Given the description of an element on the screen output the (x, y) to click on. 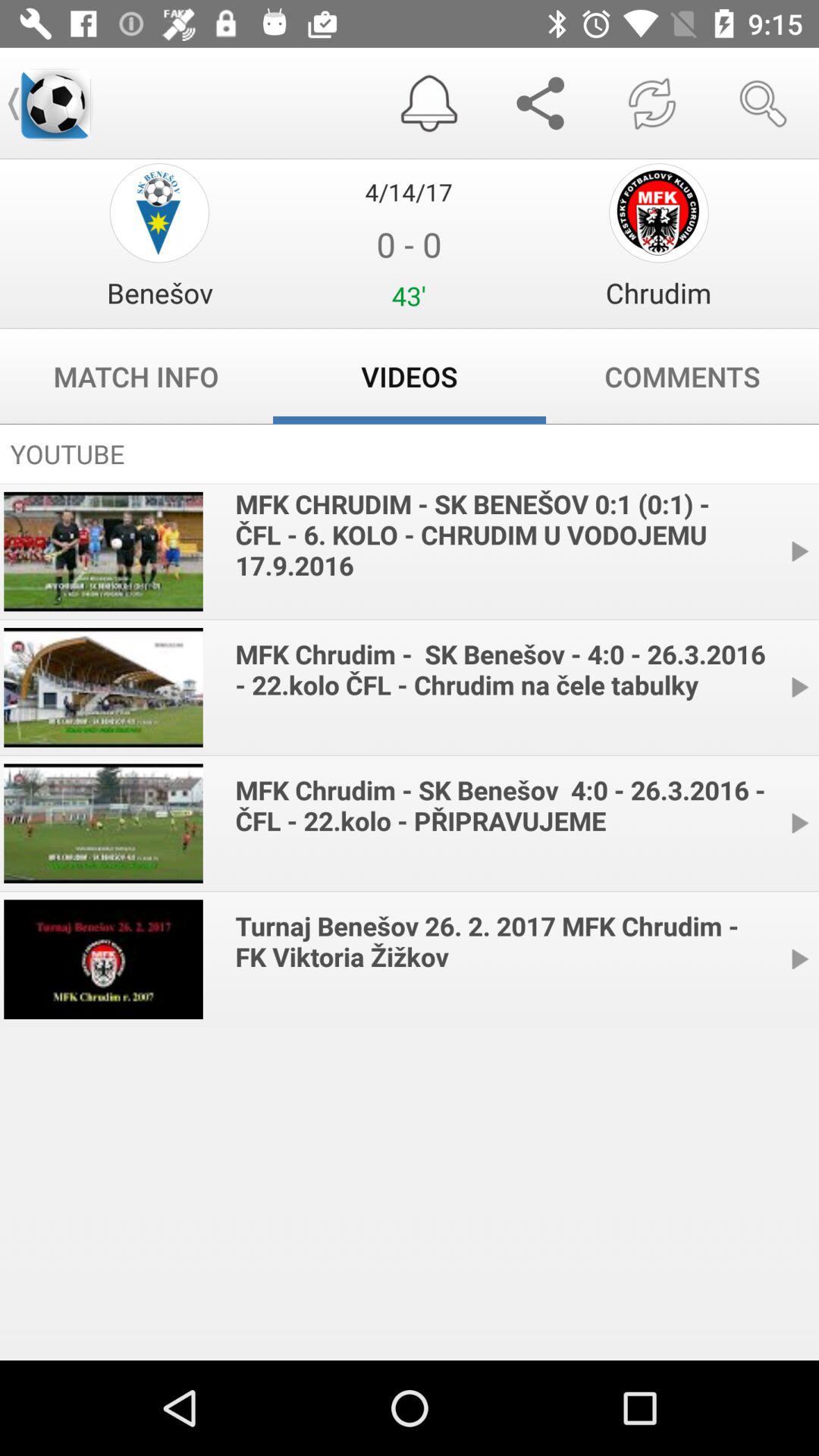
toggle logo profile (159, 212)
